Given the description of an element on the screen output the (x, y) to click on. 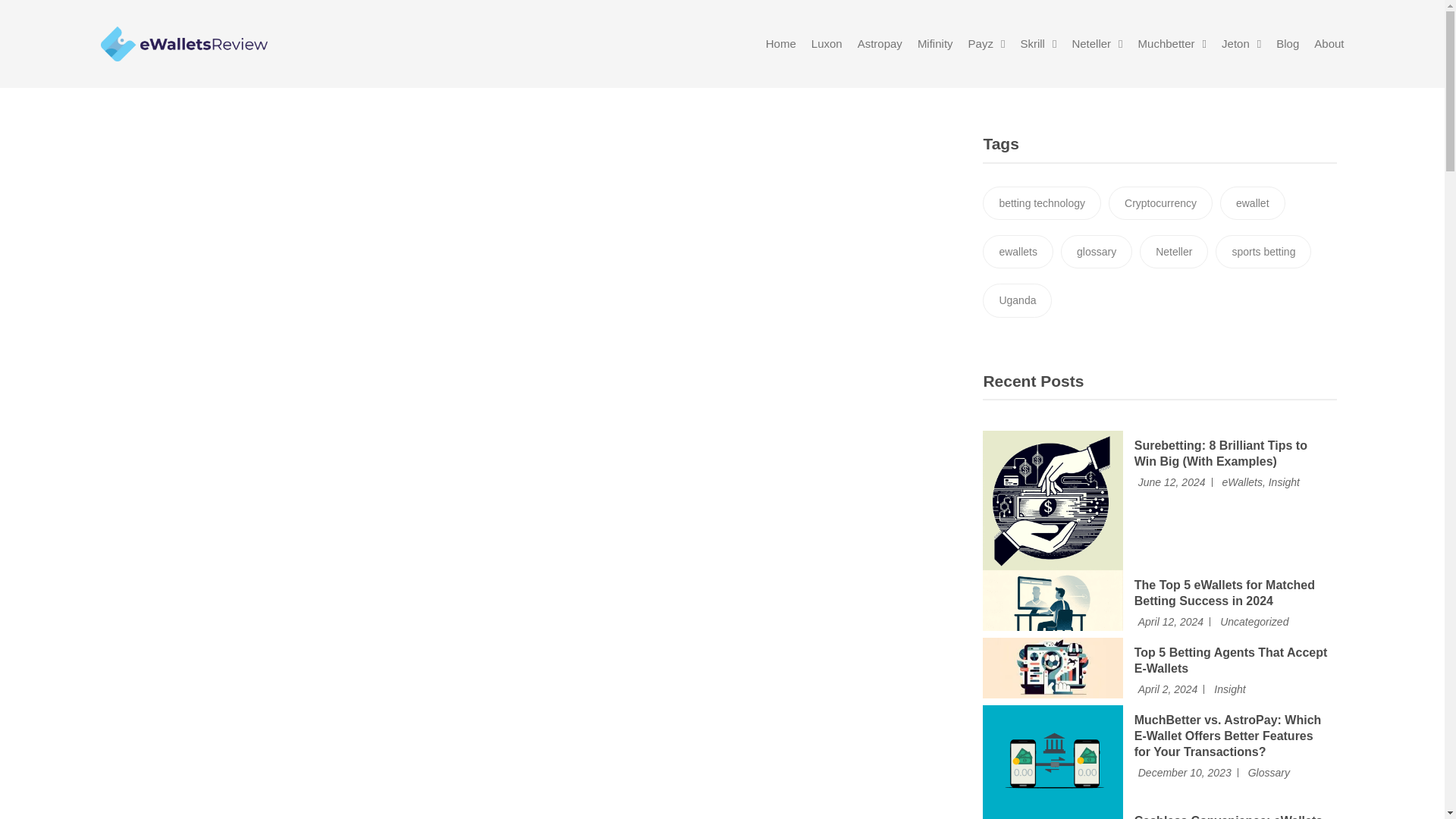
Astropay (879, 43)
Skrill (1038, 43)
Home (780, 43)
Luxon (826, 43)
Muchbetter (1172, 43)
Neteller (1096, 43)
Payz (987, 43)
Mifinity (935, 43)
